Given the description of an element on the screen output the (x, y) to click on. 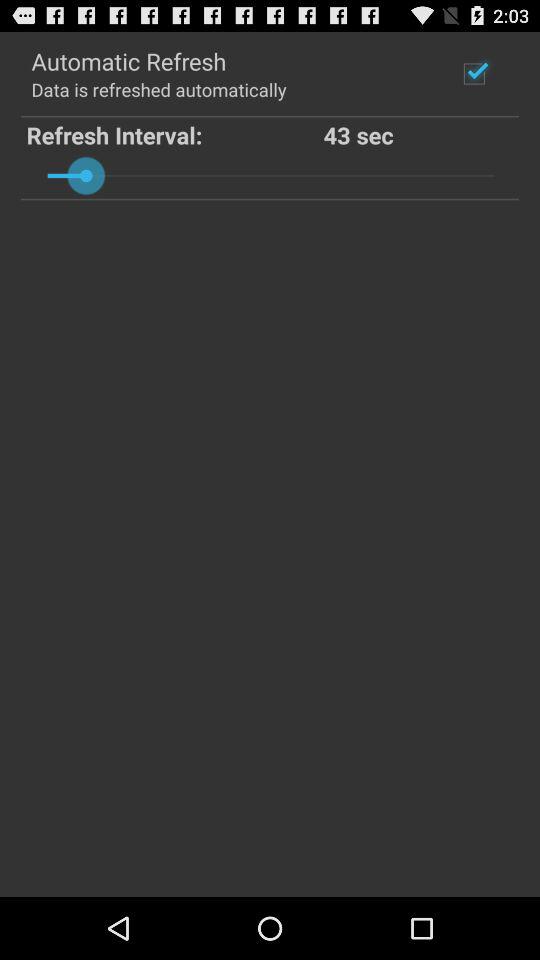
launch the icon at the top (270, 175)
